Given the description of an element on the screen output the (x, y) to click on. 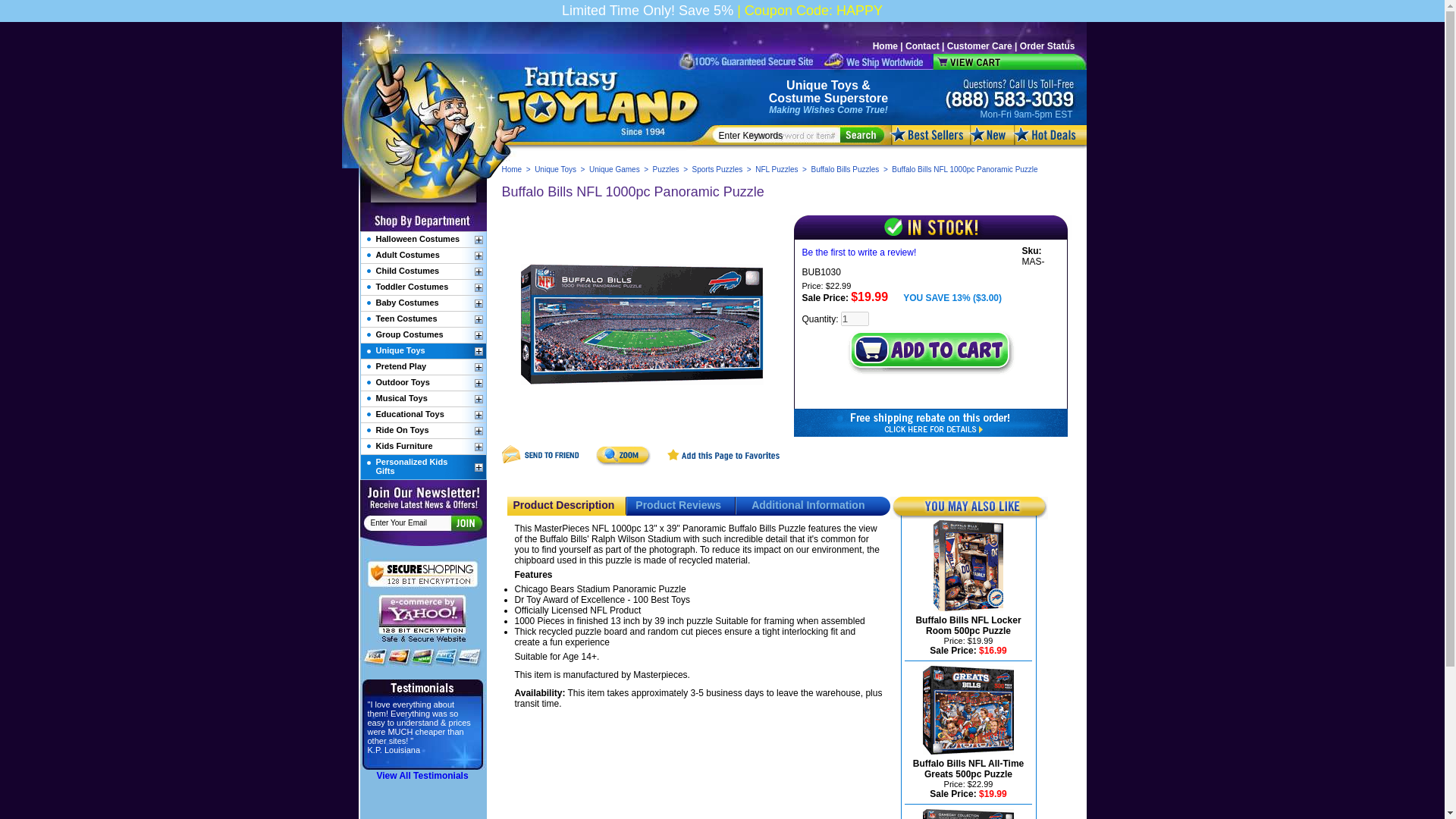
Customer Care (979, 45)
Order Status (1047, 45)
Sports Puzzles (717, 169)
Enter Keywords (779, 134)
Be the first to write a review! (859, 252)
Home (512, 169)
Enter Keywords (779, 134)
Unique Toys (822, 84)
bookmark this page (723, 462)
Additional Information (807, 504)
